Given the description of an element on the screen output the (x, y) to click on. 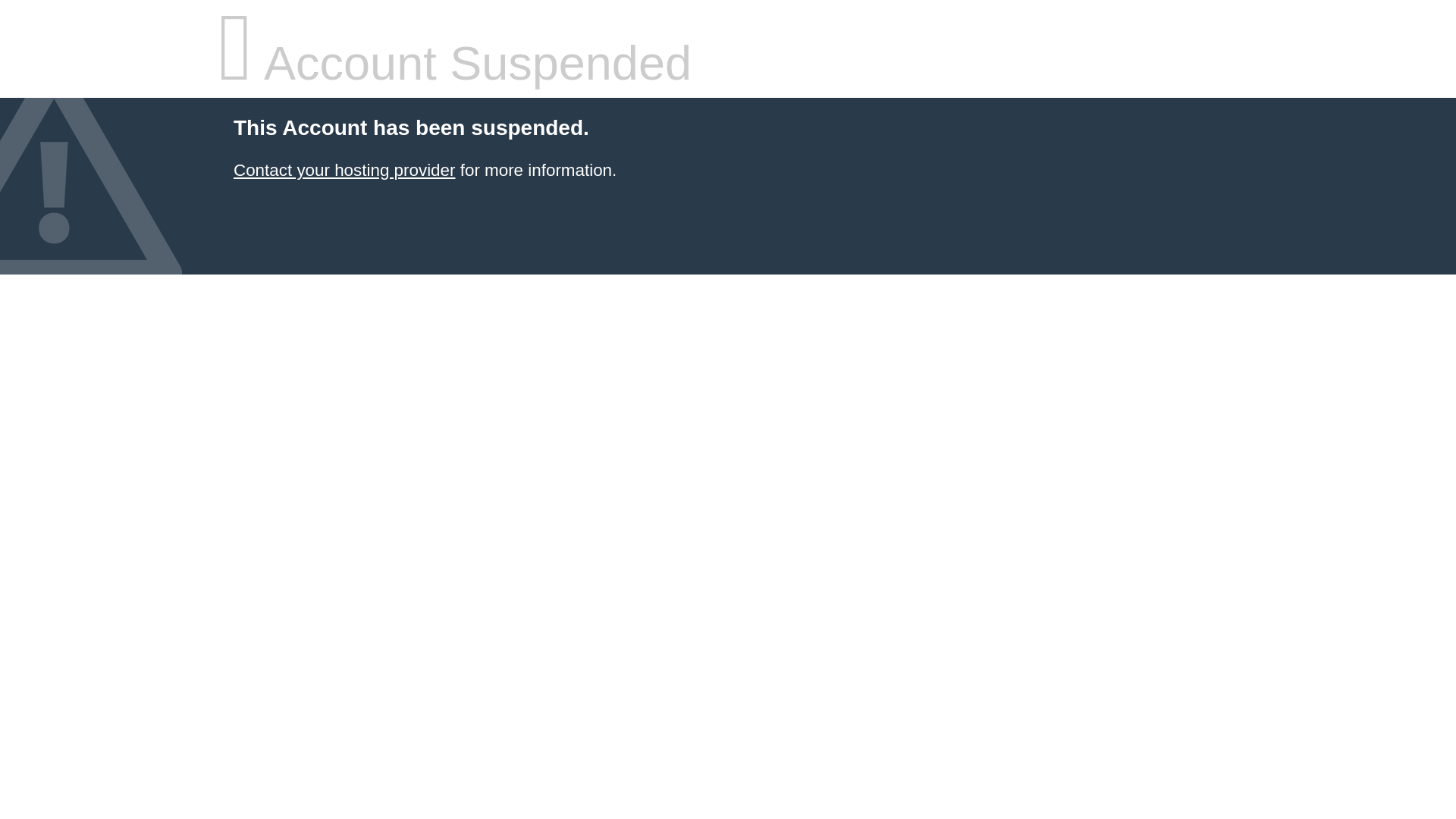
Contact your hosting provider (343, 169)
